Given the description of an element on the screen output the (x, y) to click on. 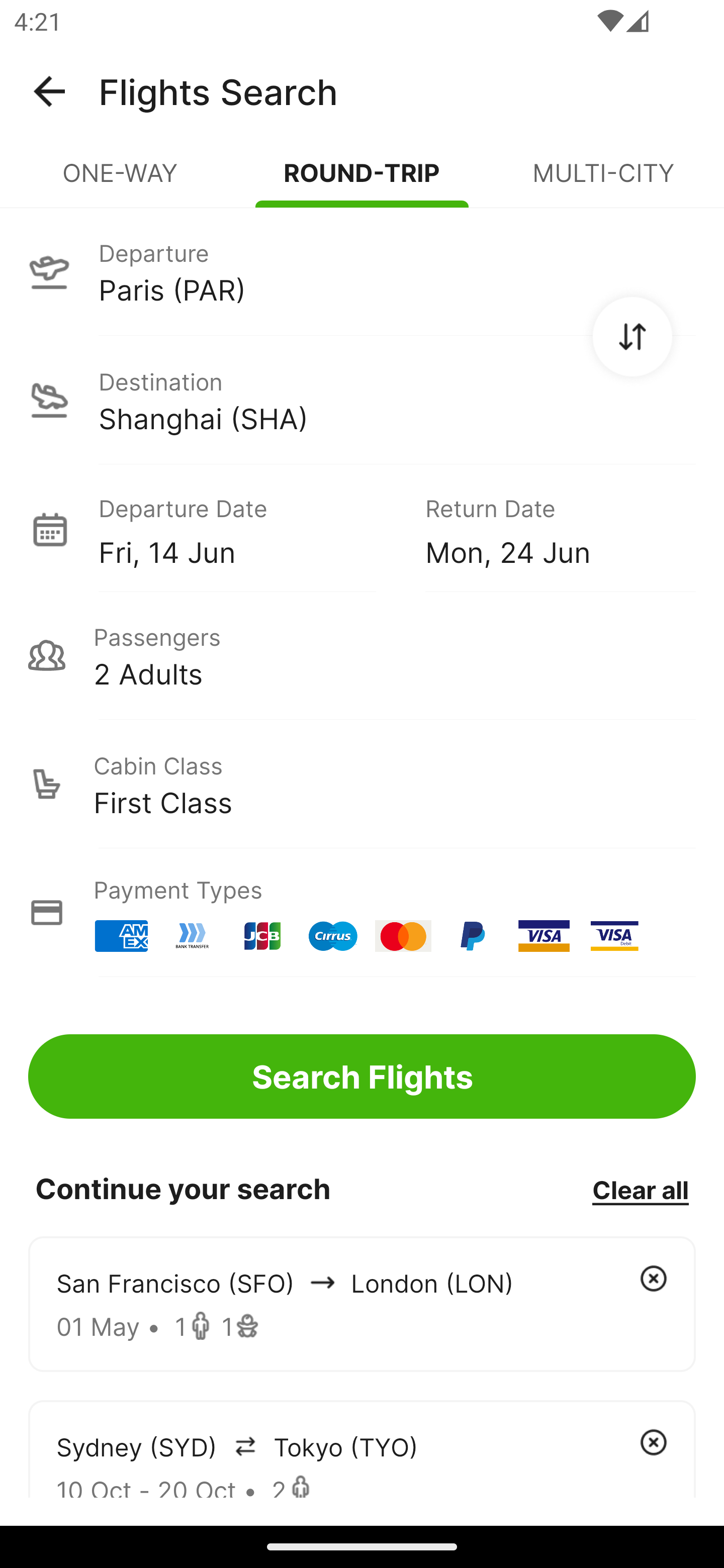
ONE-WAY (120, 180)
ROUND-TRIP (361, 180)
MULTI-CITY (603, 180)
Departure Paris (PAR) (362, 270)
Destination Shanghai (SHA) (362, 400)
Departure Date Fri, 14 Jun (247, 528)
Return Date Mon, 24 Jun (546, 528)
Passengers 2 Adults (362, 655)
Cabin Class First Class (362, 783)
Payment Types (362, 912)
Search Flights (361, 1075)
Clear all (640, 1189)
